Given the description of an element on the screen output the (x, y) to click on. 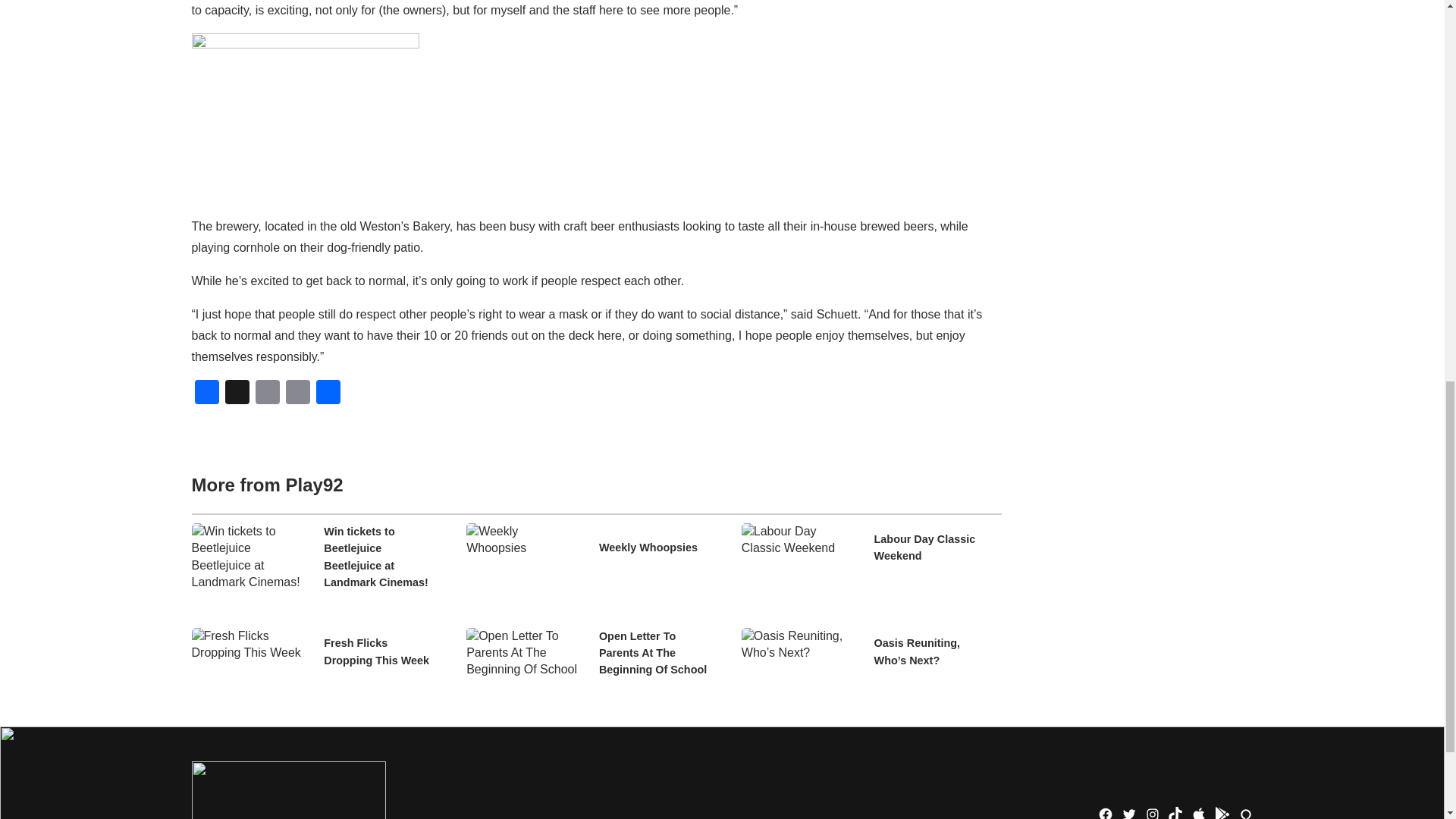
Copy Link (297, 393)
Open Letter To Parents At The Beginning Of School (655, 653)
Google Play (1222, 812)
Twitter (1129, 812)
Facebook (1105, 812)
Weekly Whoopsies (647, 547)
Win tickets to Beetlejuice Beetlejuice at Landmark Cinemas! (380, 557)
Copy Link (297, 393)
Ask Alexa (1244, 812)
Fresh Flicks Dropping This Week (380, 651)
